Given the description of an element on the screen output the (x, y) to click on. 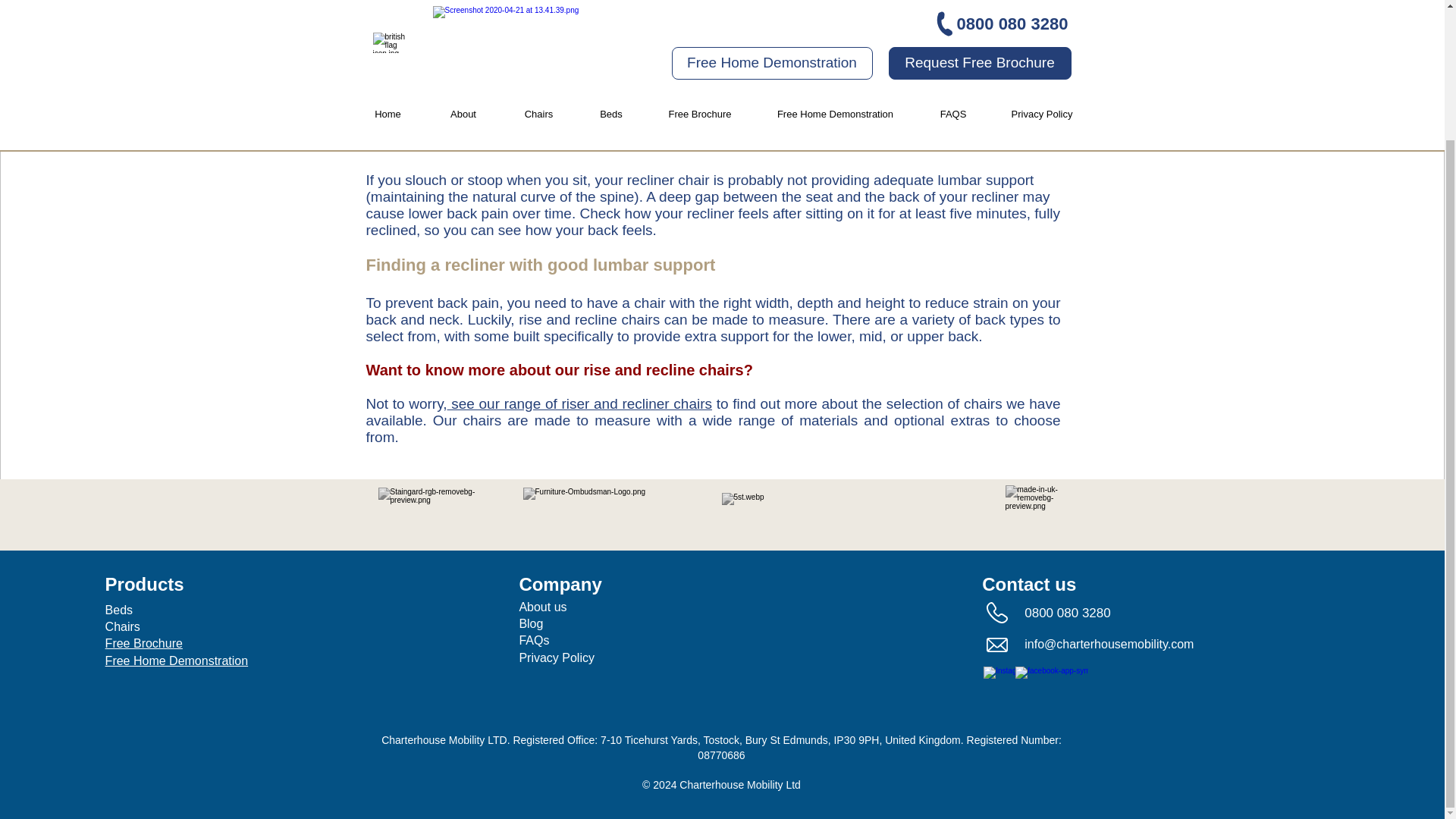
Free Brochure (143, 643)
Chairs (121, 626)
see our range of riser and recliner chairs (578, 403)
Beds (118, 609)
0800 080 3280  (1069, 612)
Free Home Demonstration (176, 660)
